Given the description of an element on the screen output the (x, y) to click on. 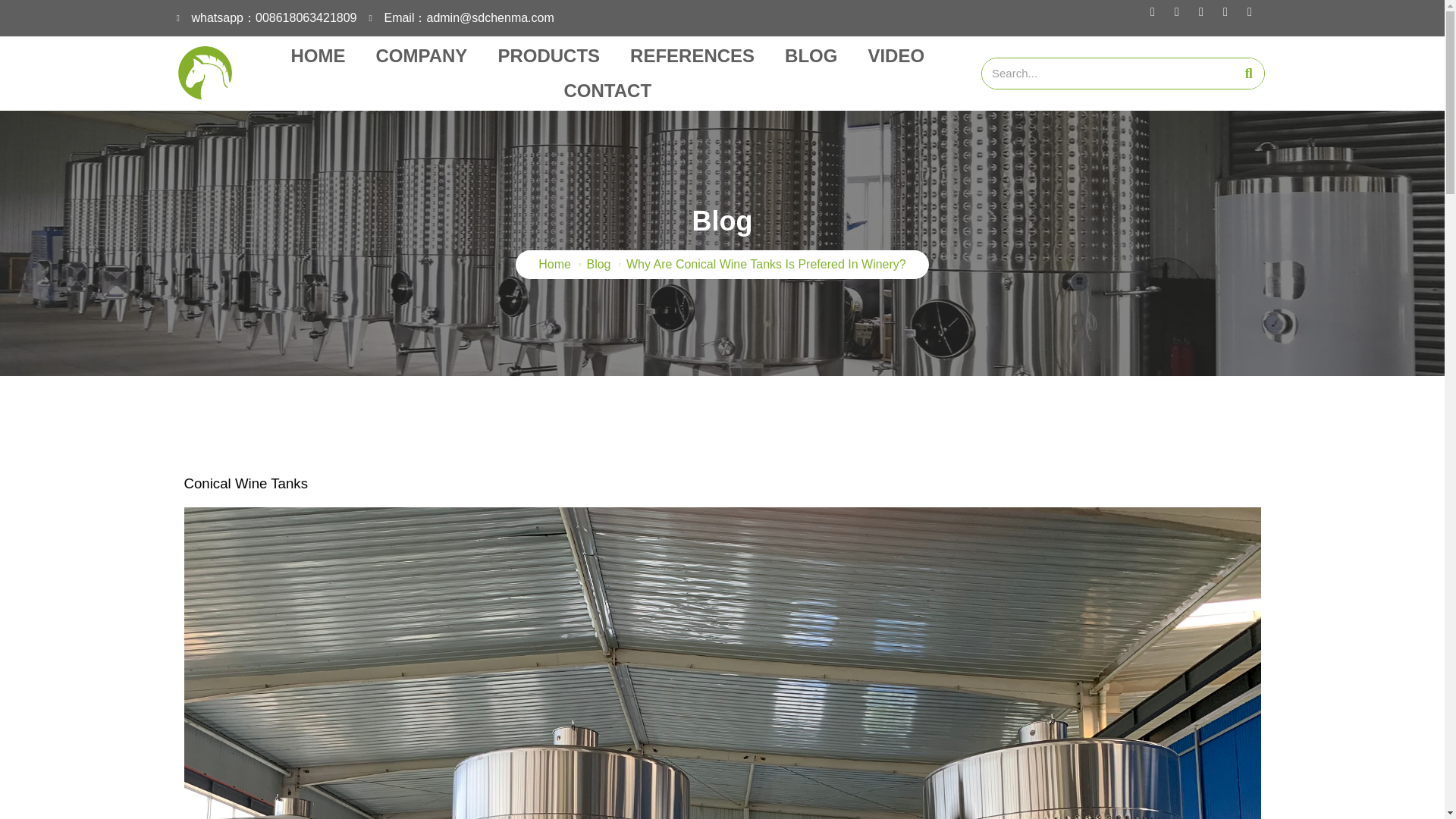
HOME (317, 55)
COMPANY (420, 55)
PRODUCTS (547, 55)
